Given the description of an element on the screen output the (x, y) to click on. 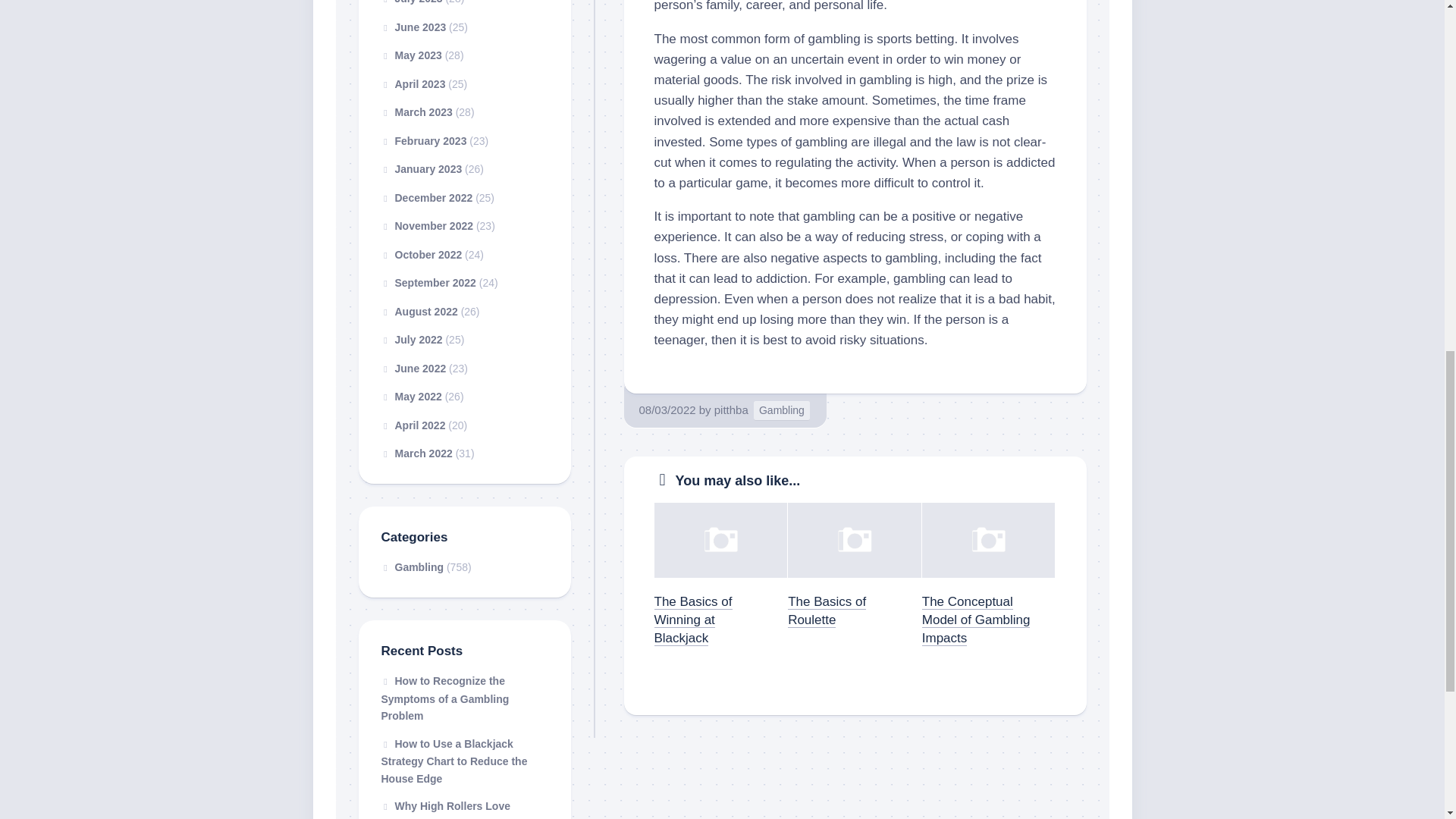
May 2023 (410, 55)
February 2023 (422, 141)
The Conceptual Model of Gambling Impacts (975, 619)
December 2022 (425, 196)
Posts by pitthba (731, 409)
January 2023 (420, 168)
pitthba (731, 409)
The Basics of Roulette (826, 610)
Gambling (781, 410)
The Basics of Winning at Blackjack (692, 619)
